Given the description of an element on the screen output the (x, y) to click on. 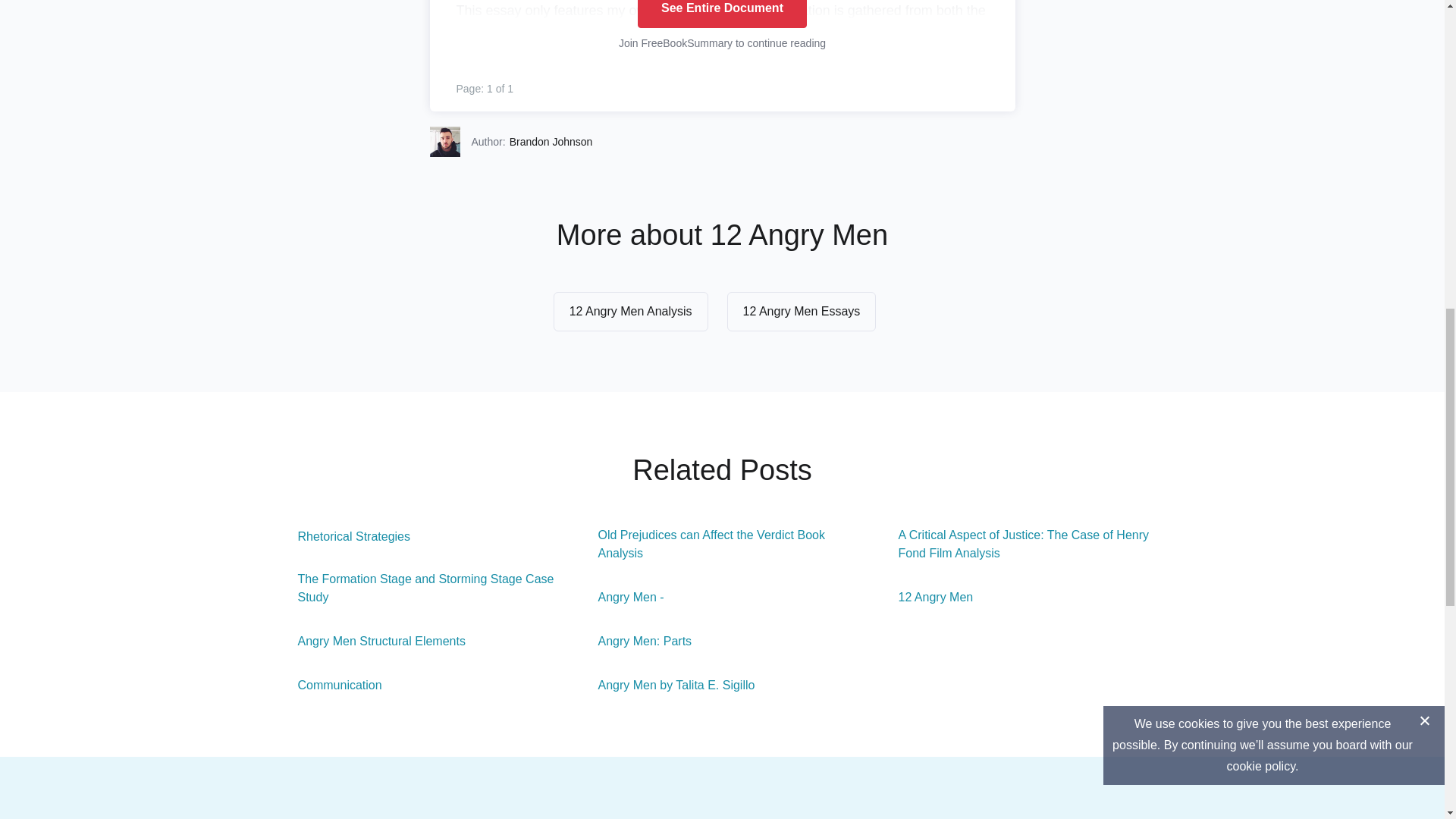
Angry Men by Talita E. Sigillo (667, 685)
12 Angry Men (926, 597)
Angry Men - (621, 597)
12 Angry Men Essays (801, 311)
Communication (330, 685)
Old Prejudices can Affect the Verdict Book Analysis (722, 544)
Angry Men: Parts (636, 641)
Angry Men Structural Elements (372, 641)
12 Angry Men Analysis (630, 311)
The Formation Stage and Storming Stage Case Study (422, 588)
